Given the description of an element on the screen output the (x, y) to click on. 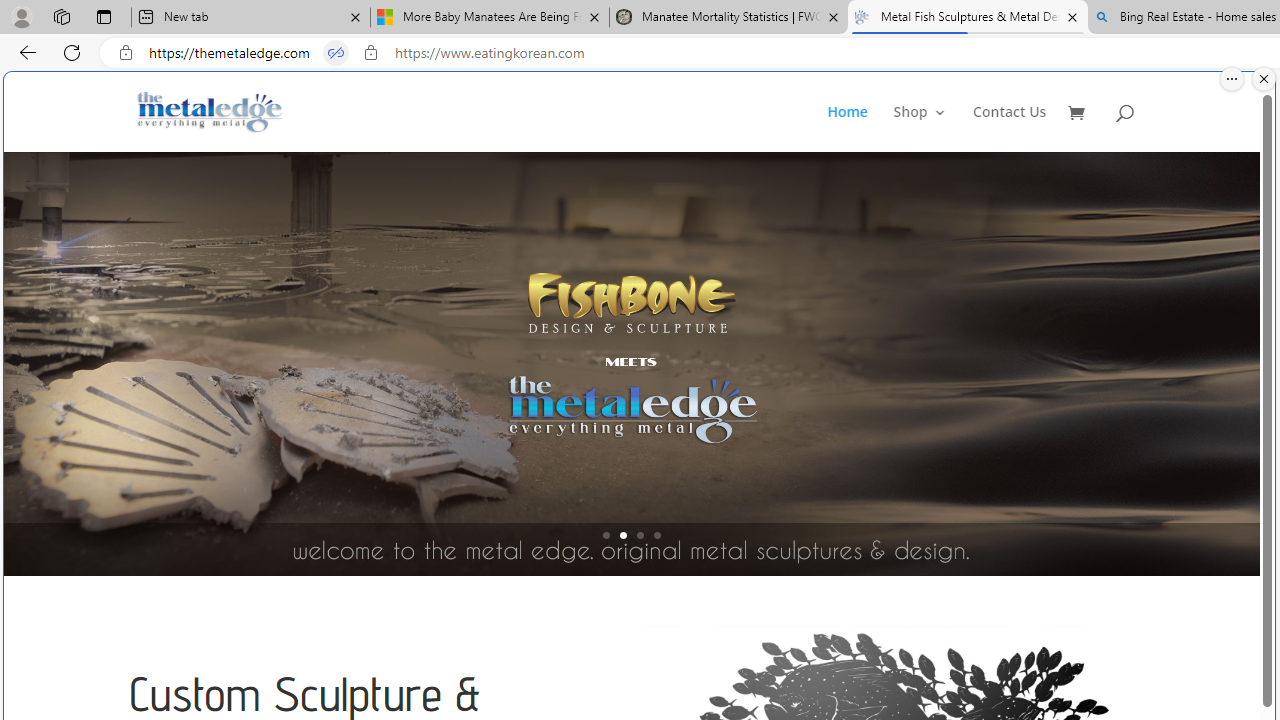
Metal Fish Sculptures & Metal Designs (210, 111)
Close split screen. (1264, 79)
Contact Us (1009, 128)
Manatee Mortality Statistics | FWC (729, 17)
Tabs in split screen (335, 53)
